Given the description of an element on the screen output the (x, y) to click on. 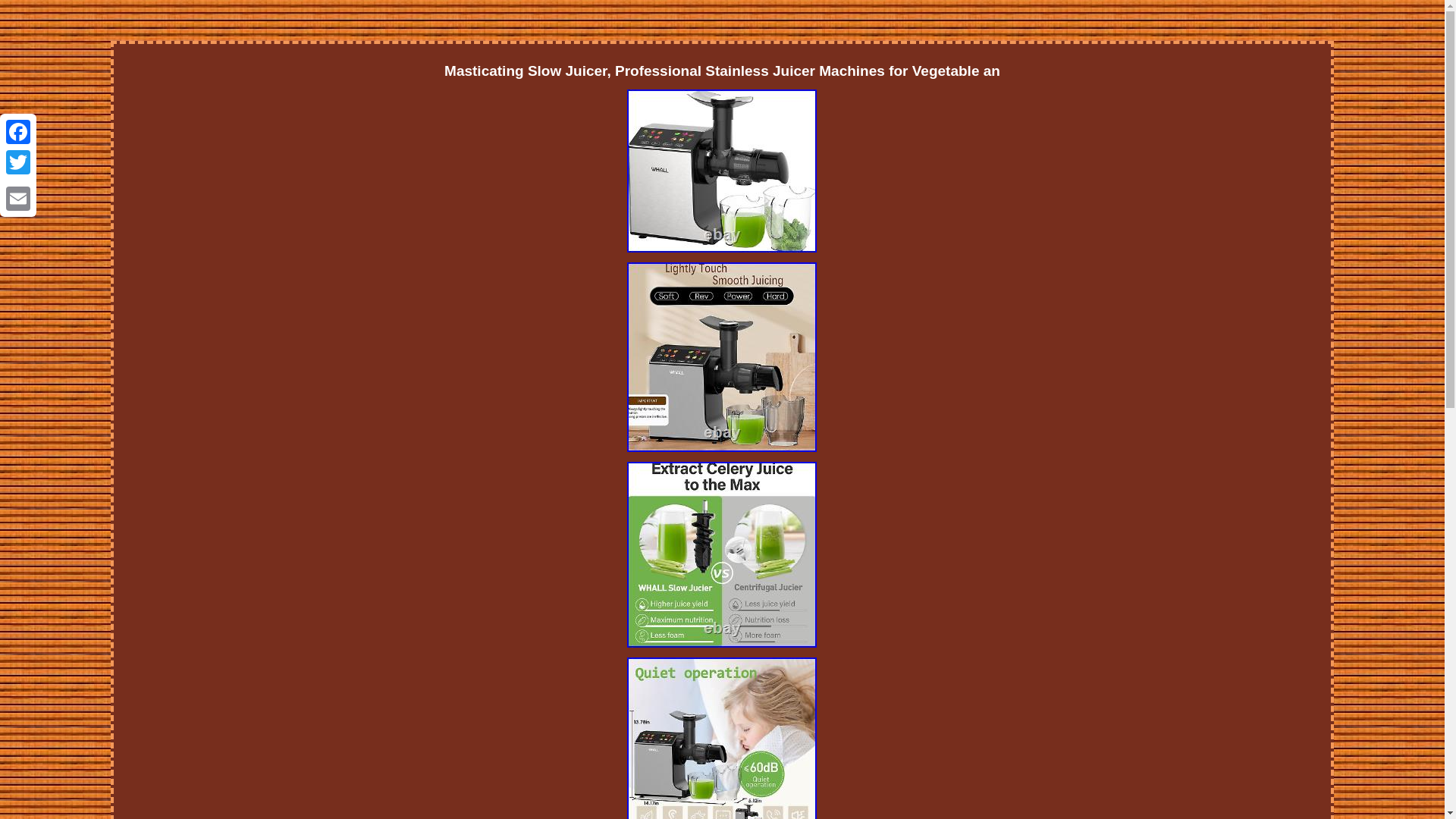
Facebook (17, 132)
Twitter (17, 162)
Email (17, 198)
